Given the description of an element on the screen output the (x, y) to click on. 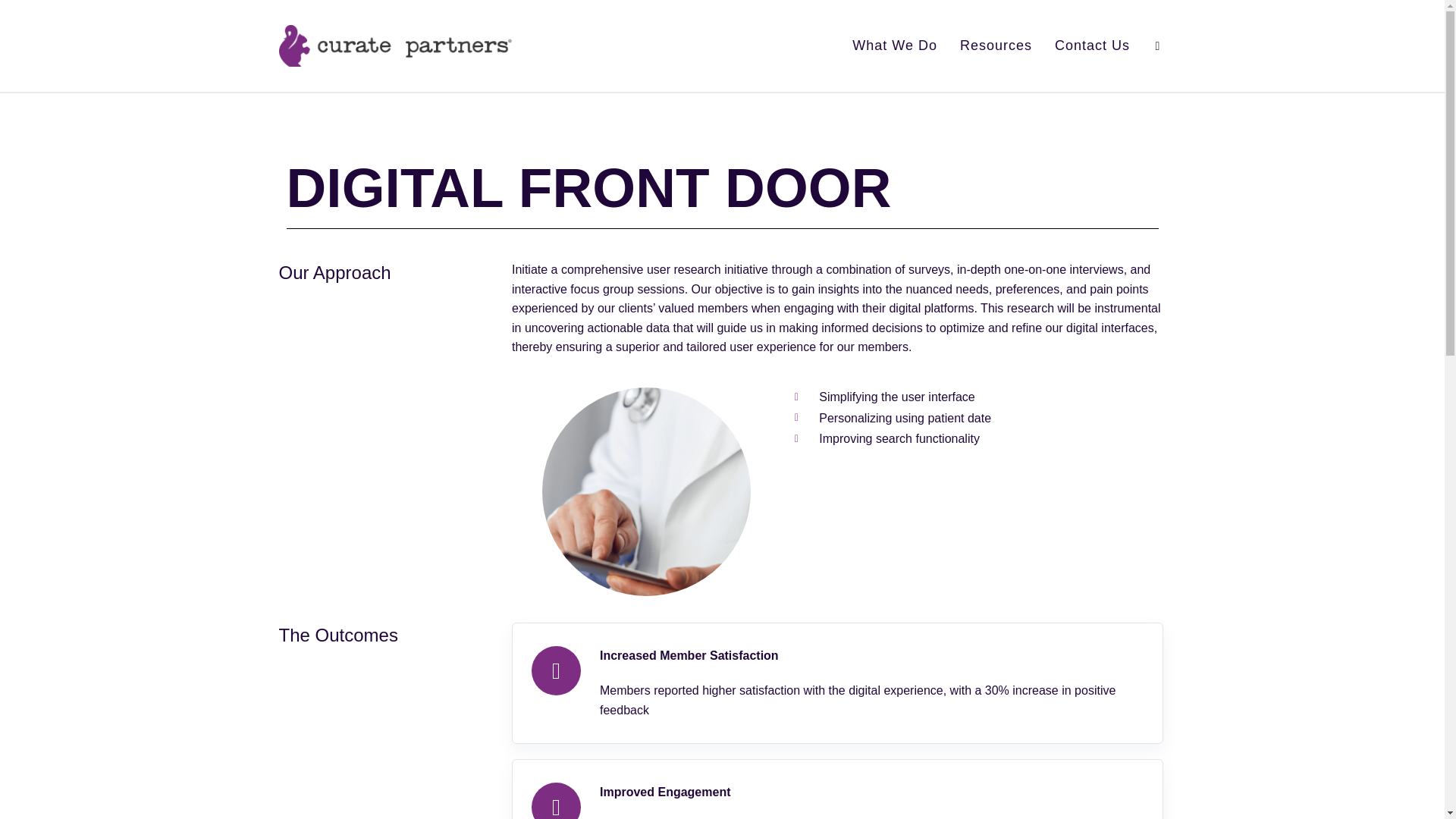
What We Do (894, 45)
digital healthcare (646, 492)
Search (1157, 45)
Curate Partners (395, 45)
